Given the description of an element on the screen output the (x, y) to click on. 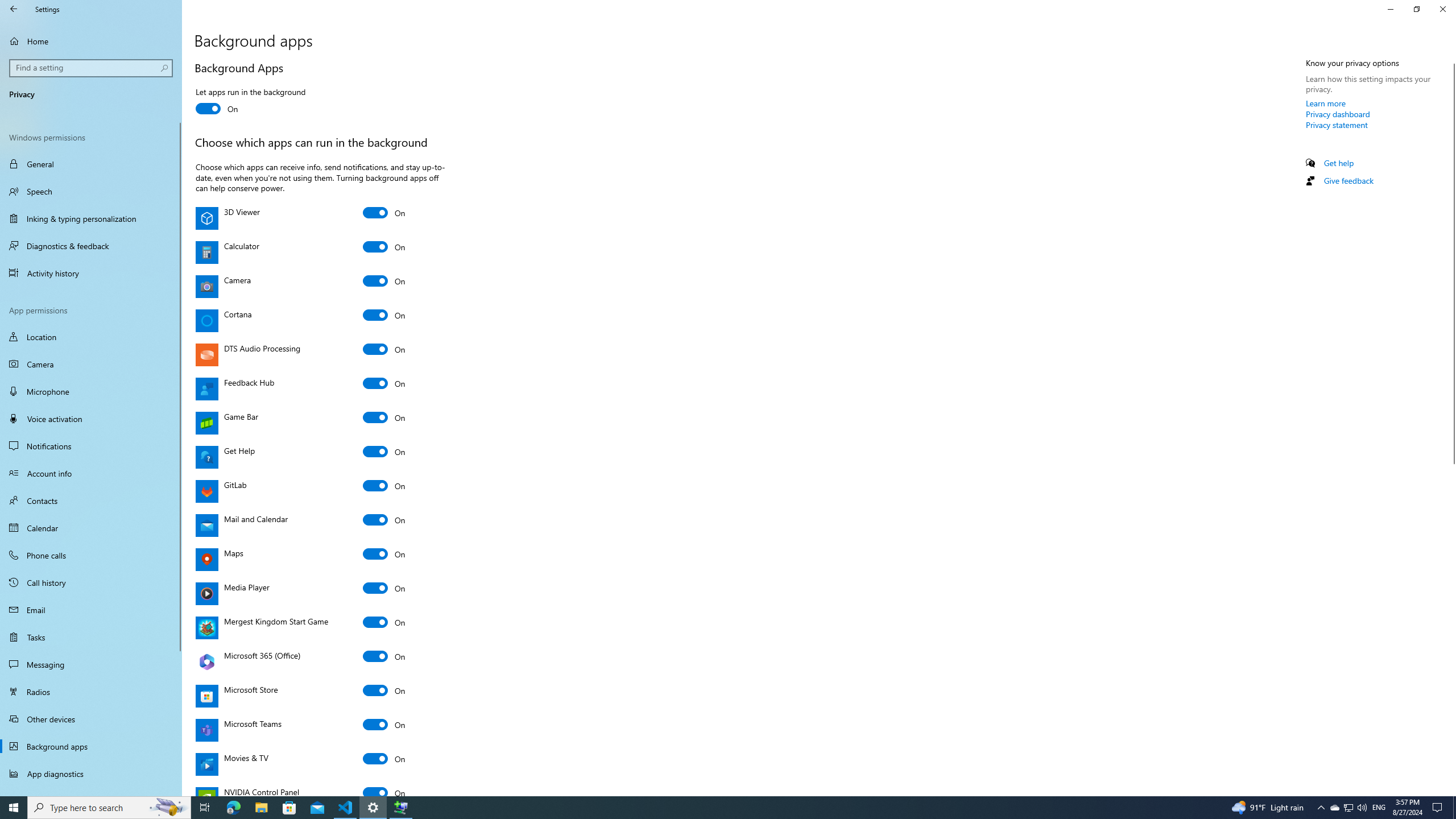
Call history (91, 582)
Inking & typing personalization (91, 217)
3D Viewer (384, 212)
Get Help (384, 451)
General (91, 163)
Notifications (91, 445)
Cortana (384, 315)
GitLab (384, 485)
Microphone (1333, 807)
Home (91, 390)
User Promoted Notification Area (91, 40)
Calculator (1347, 807)
Vertical Large Increase (384, 246)
